Given the description of an element on the screen output the (x, y) to click on. 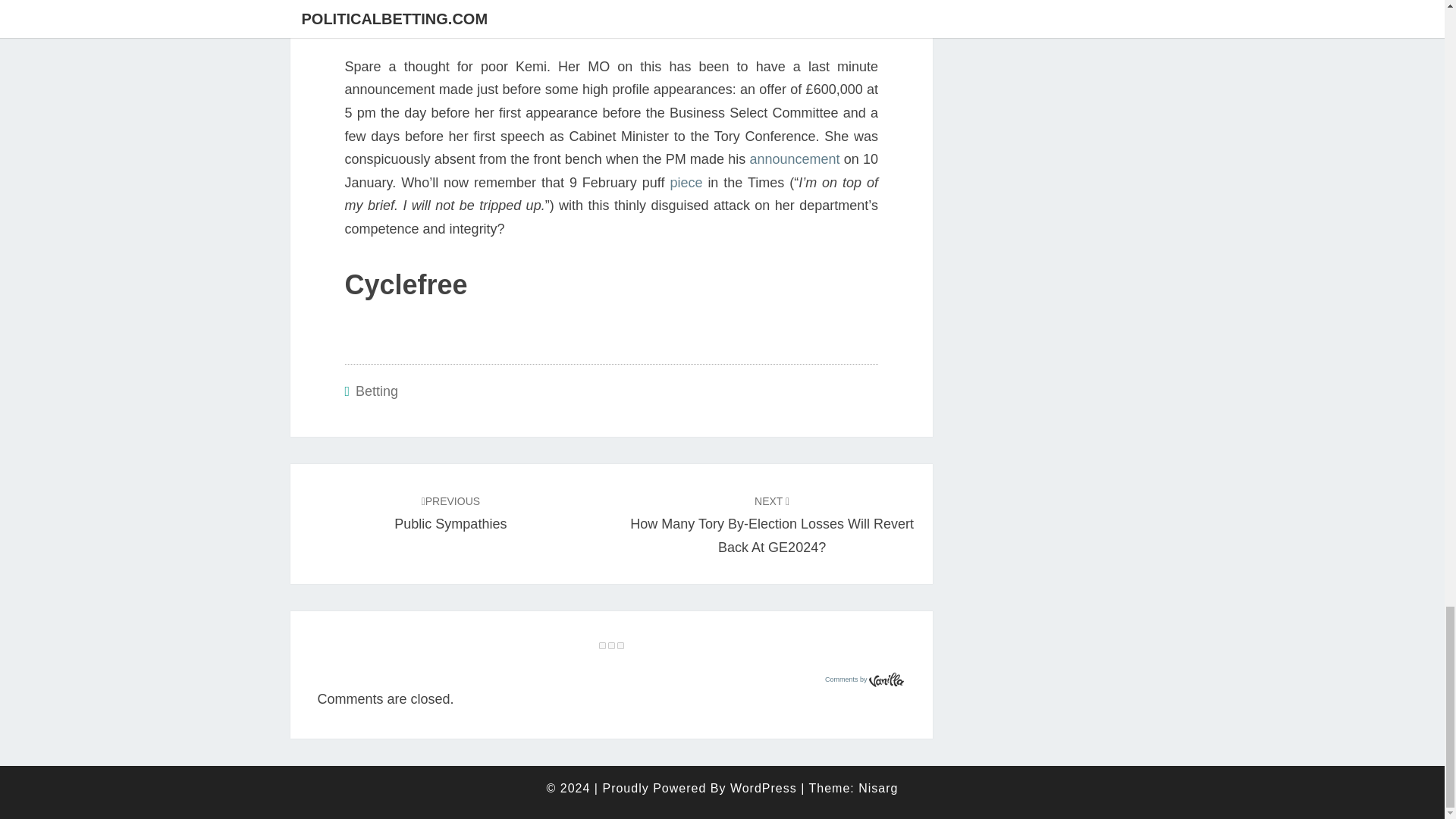
Comments by Vanilla (864, 679)
Betting (376, 391)
announcement (794, 159)
piece (688, 182)
